Given the description of an element on the screen output the (x, y) to click on. 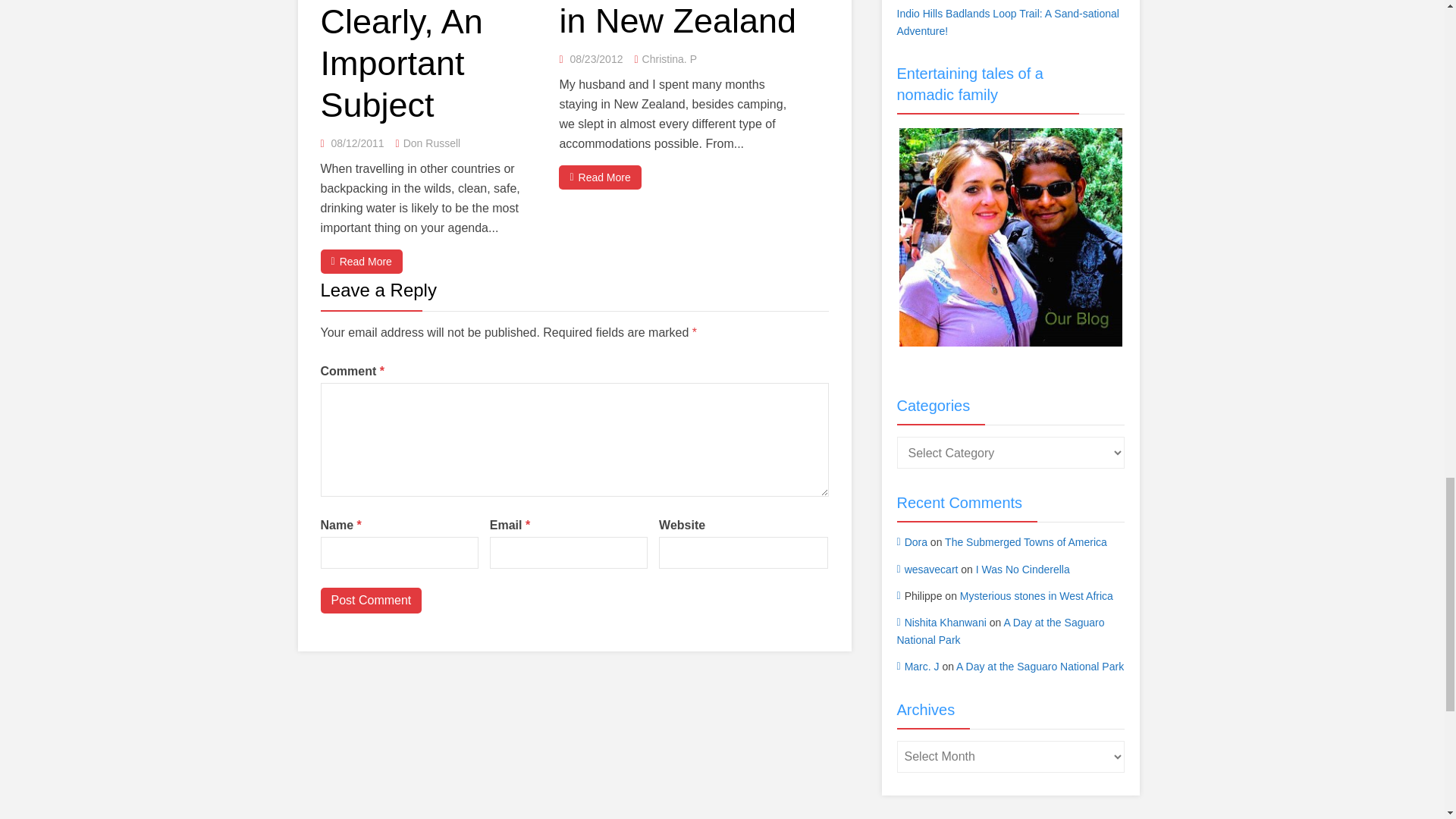
Post Comment (371, 600)
